Given the description of an element on the screen output the (x, y) to click on. 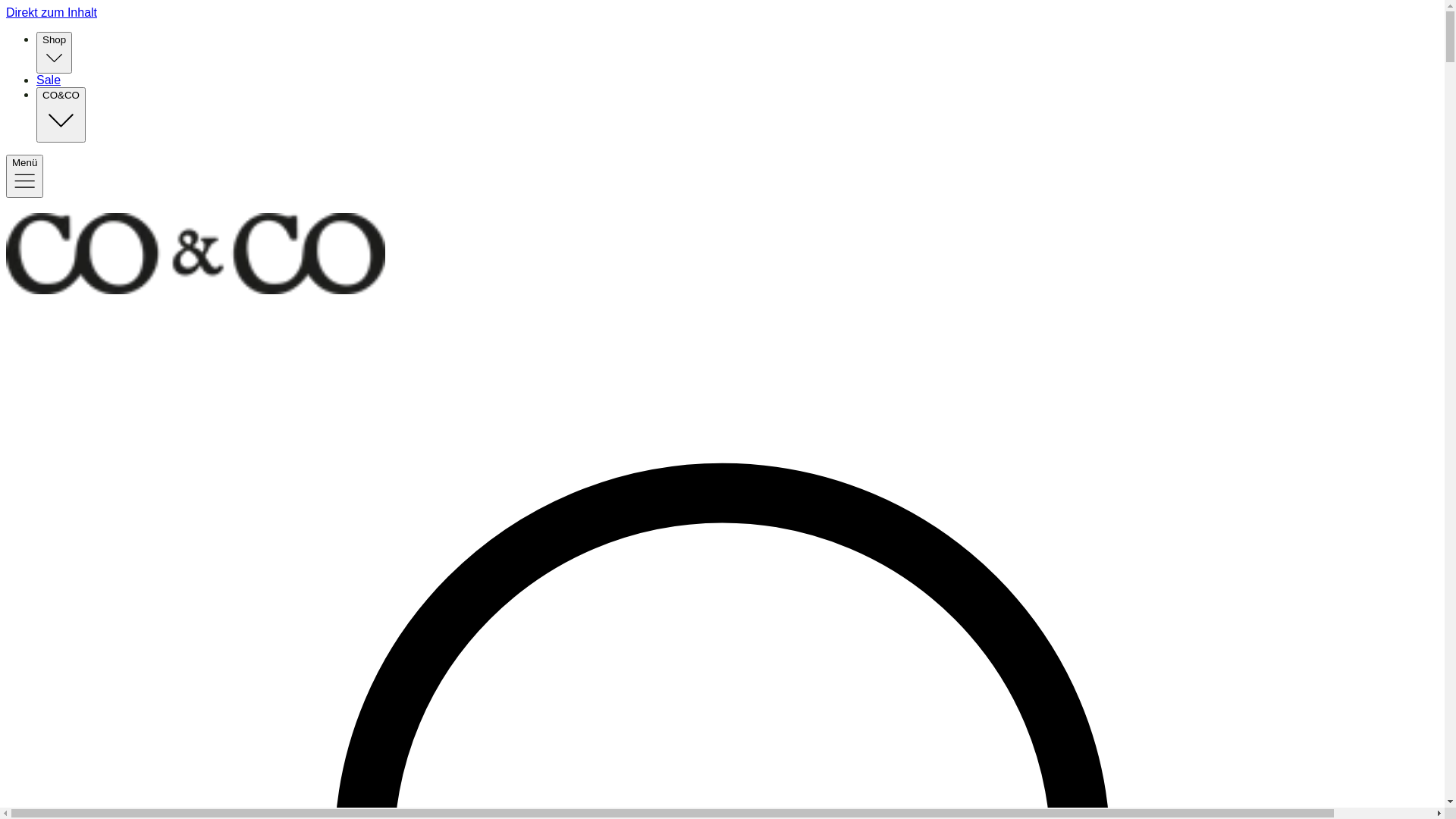
Direkt zum Inhalt Element type: text (722, 12)
Shop Element type: text (54, 52)
Sale Element type: text (48, 79)
CO&CO Element type: text (60, 114)
